Given the description of an element on the screen output the (x, y) to click on. 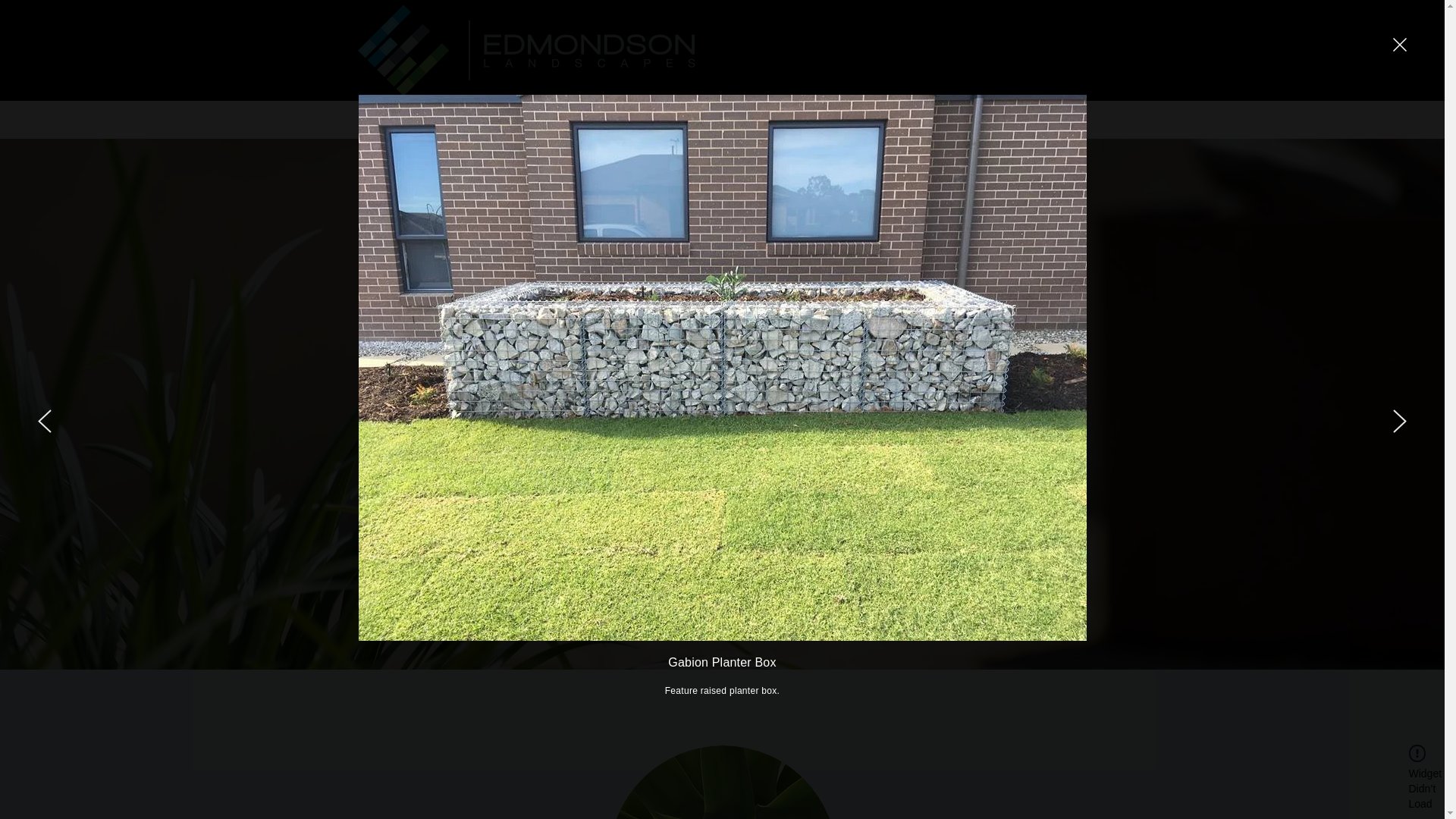
Contact Element type: text (617, 118)
Home Element type: text (380, 118)
Contact Us Element type: text (974, 503)
edmondson@outlook.com.au Element type: text (847, 118)
Services Element type: text (491, 118)
About Element type: text (432, 118)
Projects Element type: text (555, 118)
